Given the description of an element on the screen output the (x, y) to click on. 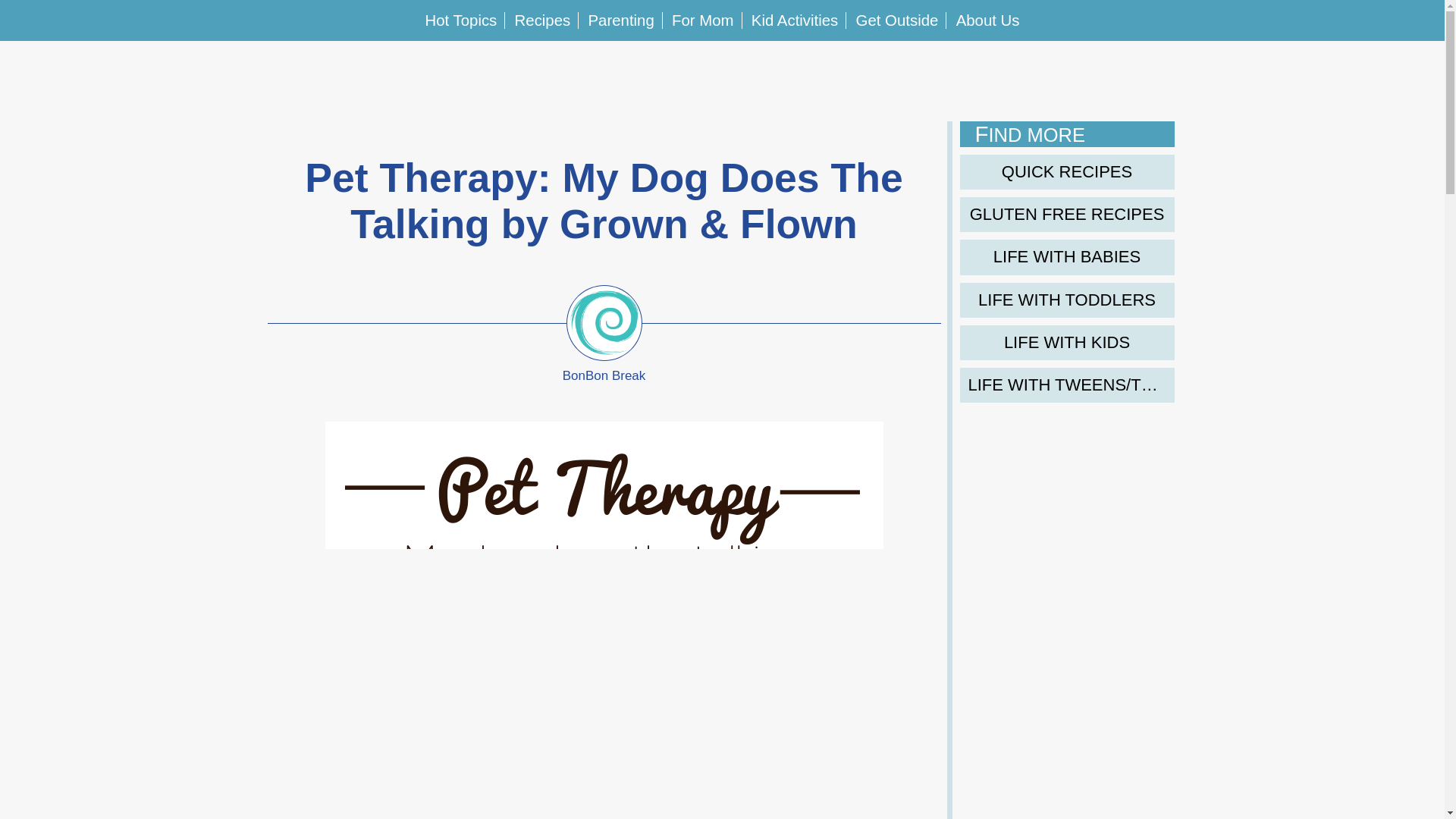
BonBon Submit (1365, 71)
Get Outside (897, 20)
Hot Topics (460, 20)
Life with toddlers (1066, 299)
Twitter (61, 71)
GLUTEN FREE RECIPES (1066, 214)
Life with kids (1066, 342)
Recipes (542, 20)
Kid Activities (794, 20)
Gluten Free Recipes (1066, 214)
